Given the description of an element on the screen output the (x, y) to click on. 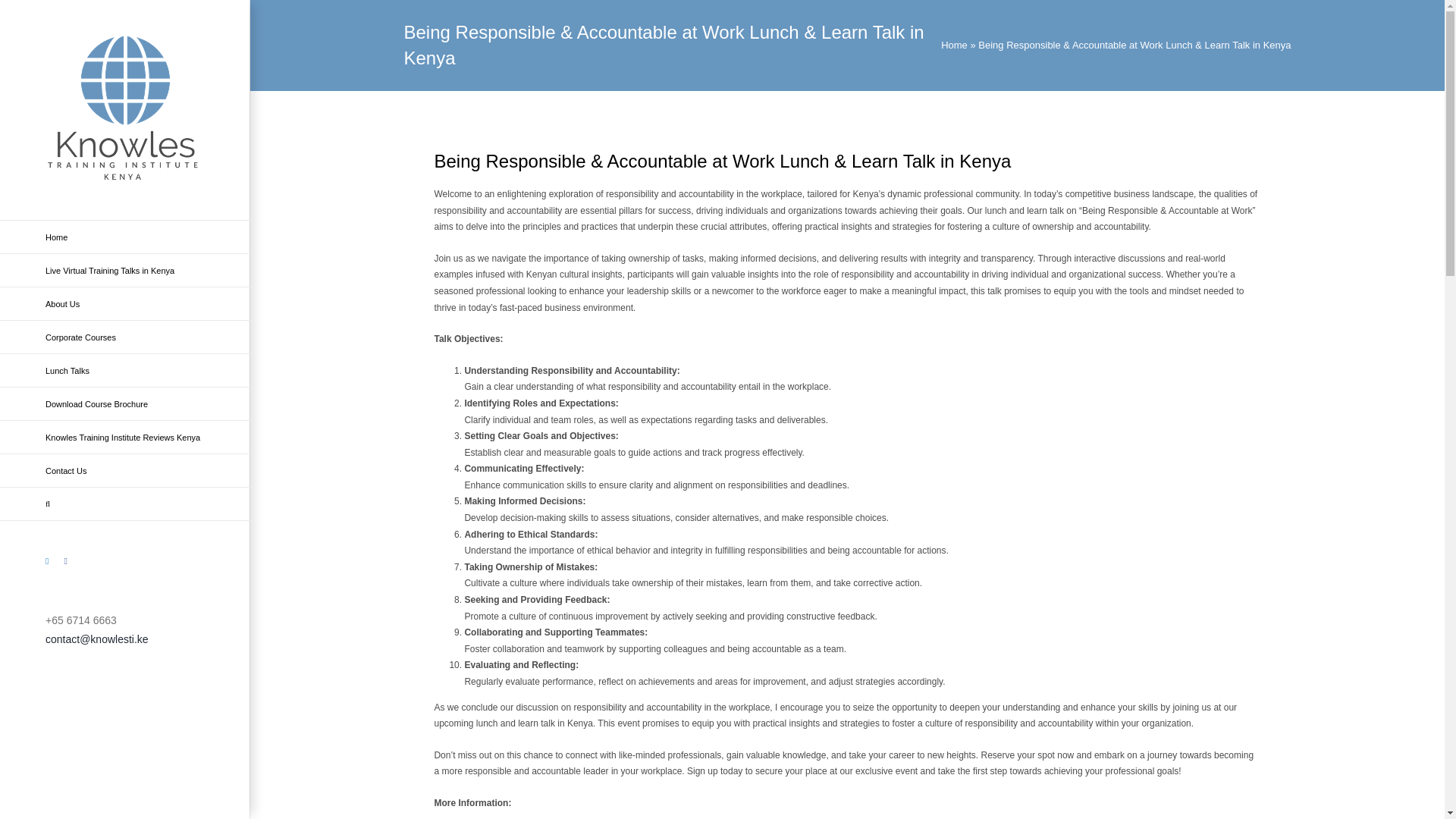
Search (125, 503)
Corporate Courses (125, 337)
Contact Us (125, 470)
Home (125, 236)
Download Course Brochure (125, 403)
Home (954, 44)
Live Virtual Training Talks in Kenya (125, 270)
Knowles Training Institute Reviews Kenya (125, 437)
About Us (125, 304)
Lunch Talks (125, 370)
